Given the description of an element on the screen output the (x, y) to click on. 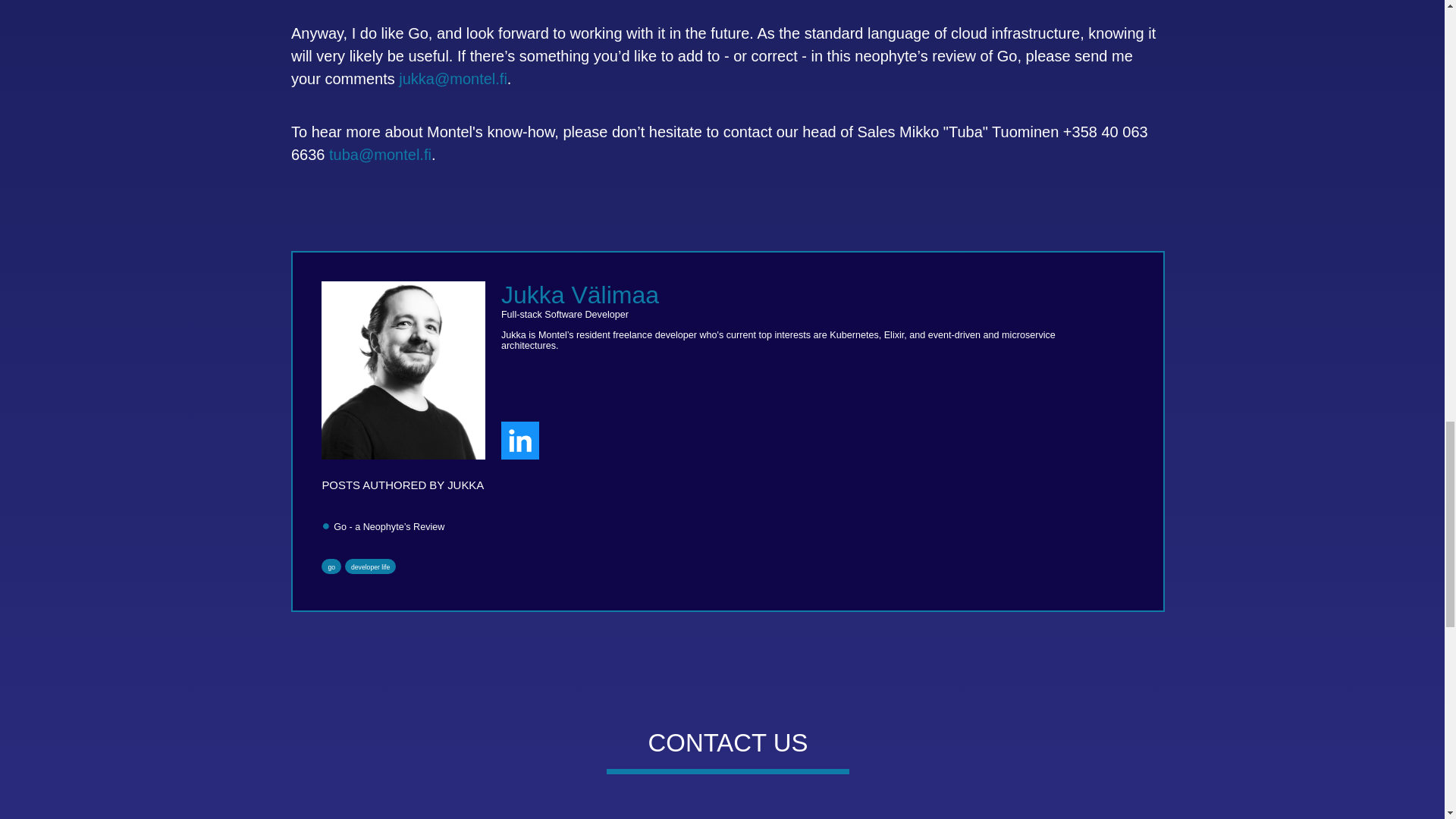
developer life (370, 566)
go (330, 566)
